Given the description of an element on the screen output the (x, y) to click on. 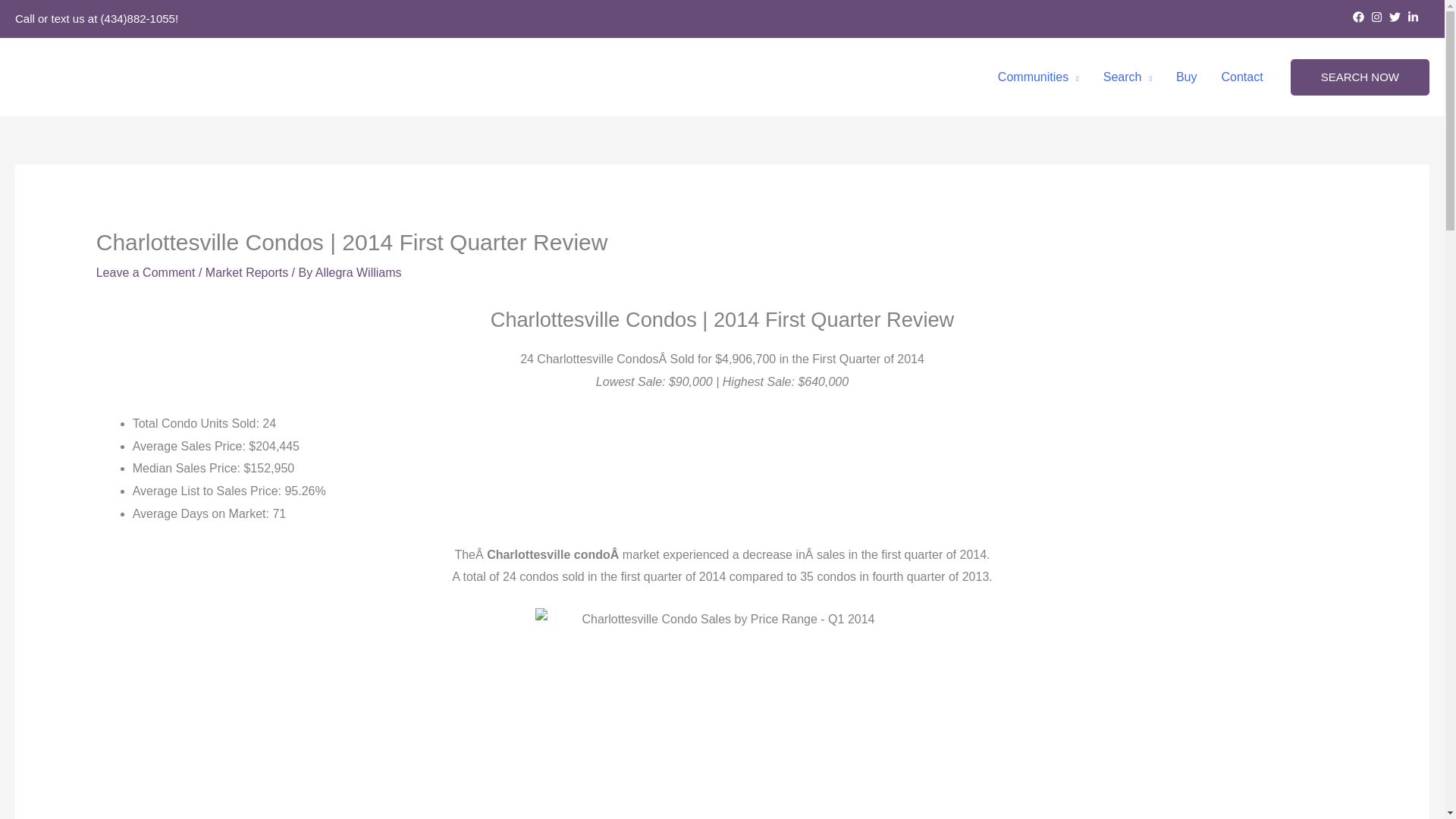
Market Reports (246, 272)
Charlottesville Condo Sales by Price Range - Q1 2014 (722, 713)
Contact (1242, 77)
Leave a Comment (145, 272)
View all posts by Allegra Williams (358, 272)
Search (1126, 77)
Communities (1037, 77)
Allegra Williams (358, 272)
SEARCH NOW (1359, 76)
